Given the description of an element on the screen output the (x, y) to click on. 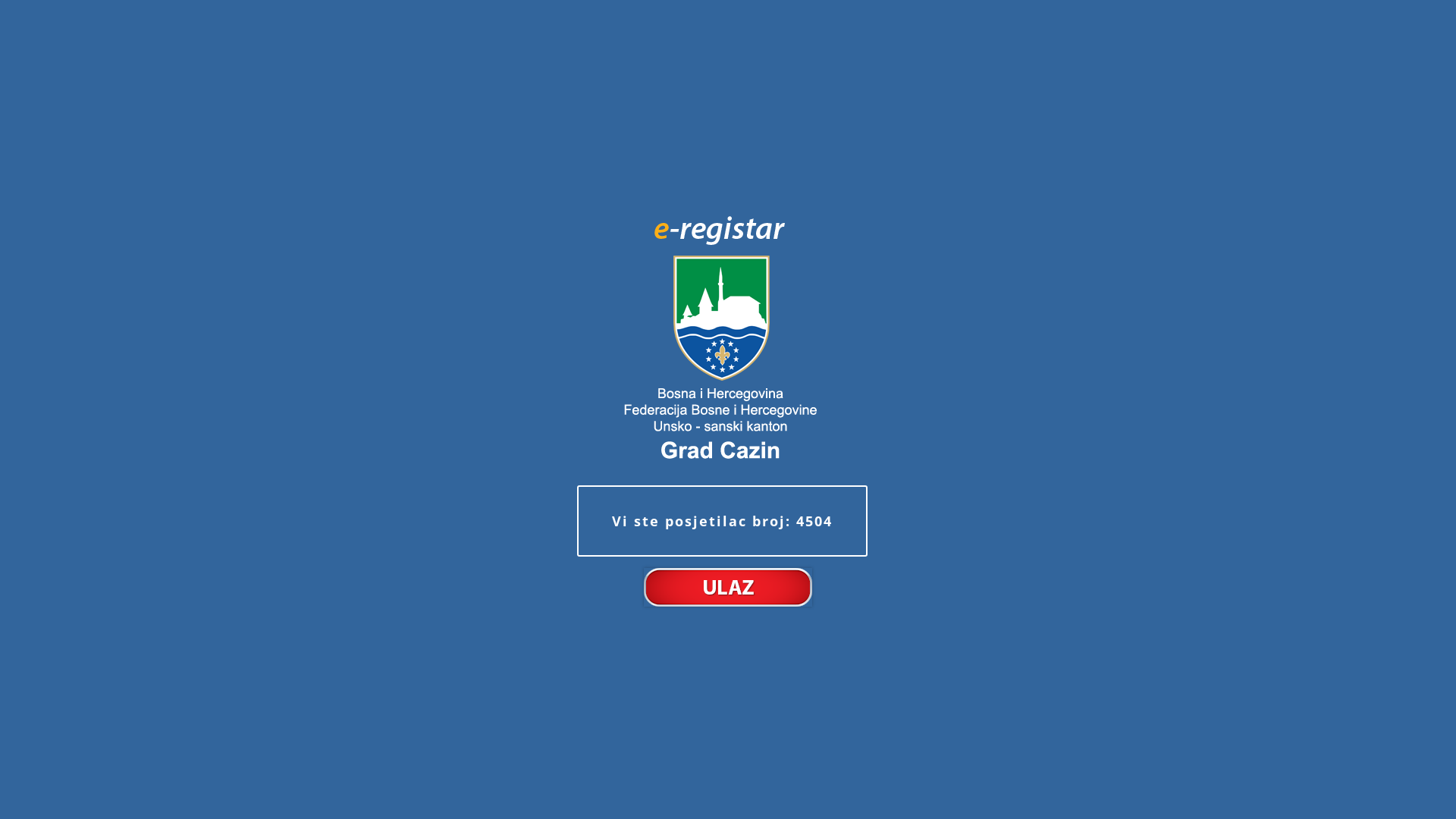
Vi ste posjetilac broj: 4504 Element type: text (722, 520)
pocetna-grad-web copy Element type: hover (727, 336)
ulaz-naslovna Element type: hover (727, 586)
